Given the description of an element on the screen output the (x, y) to click on. 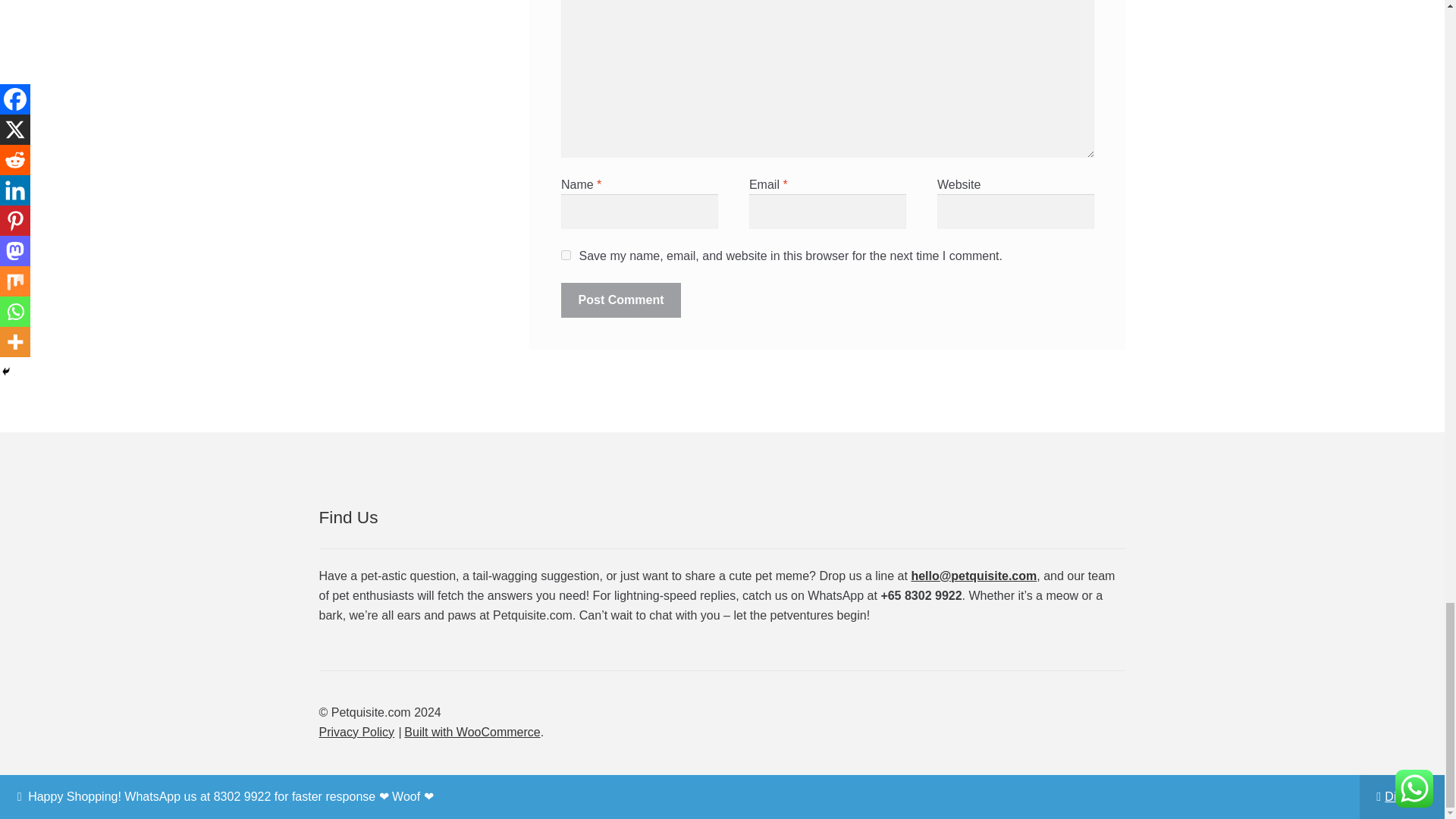
Post Comment (620, 299)
WooCommerce - The Best eCommerce Platform for WordPress (472, 731)
yes (565, 255)
